Given the description of an element on the screen output the (x, y) to click on. 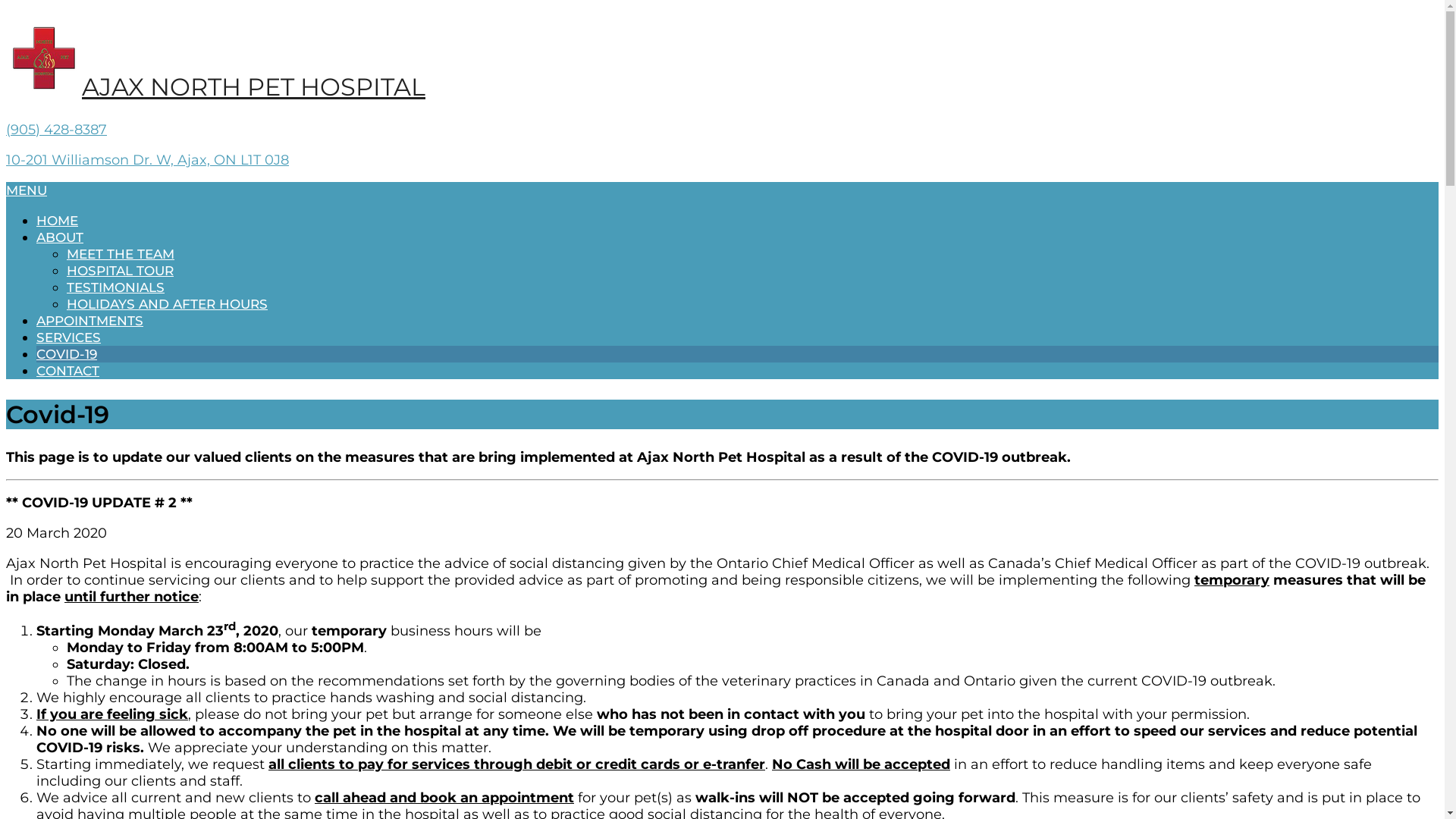
HOLIDAYS AND AFTER HOURS Element type: text (166, 303)
10-201 Williamson Dr. W, Ajax, ON L1T 0J8 Element type: text (147, 159)
(905) 428-8387 Element type: text (56, 129)
HOME Element type: text (57, 220)
MEET THE TEAM Element type: text (120, 253)
TESTIMONIALS Element type: text (115, 286)
SERVICES Element type: text (68, 337)
ABOUT Element type: text (59, 236)
MENU Element type: text (26, 189)
CONTACT Element type: text (67, 370)
APPOINTMENTS Element type: text (89, 320)
COVID-19 Element type: text (66, 353)
AJAX NORTH PET HOSPITAL Element type: text (215, 86)
HOSPITAL TOUR Element type: text (119, 270)
